Given the description of an element on the screen output the (x, y) to click on. 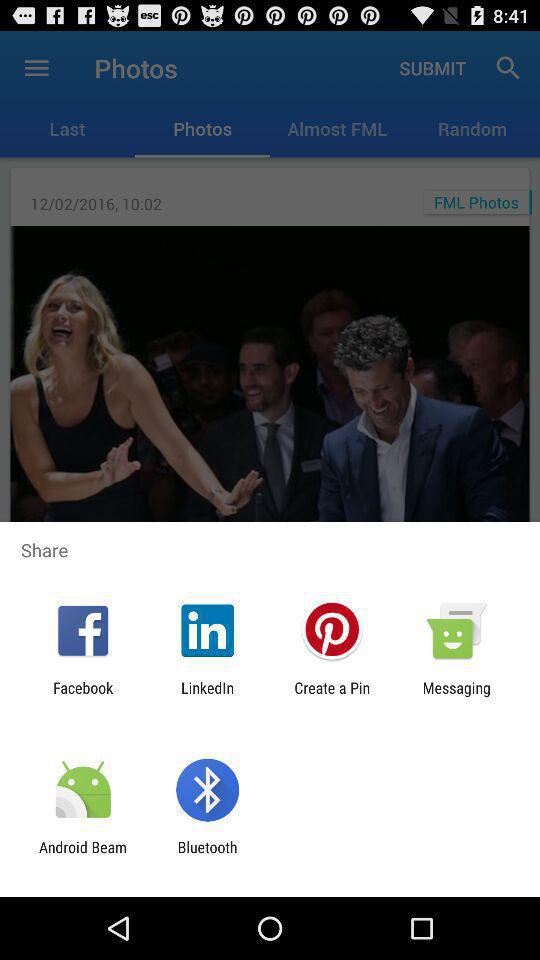
click the icon next to create a pin (456, 696)
